Given the description of an element on the screen output the (x, y) to click on. 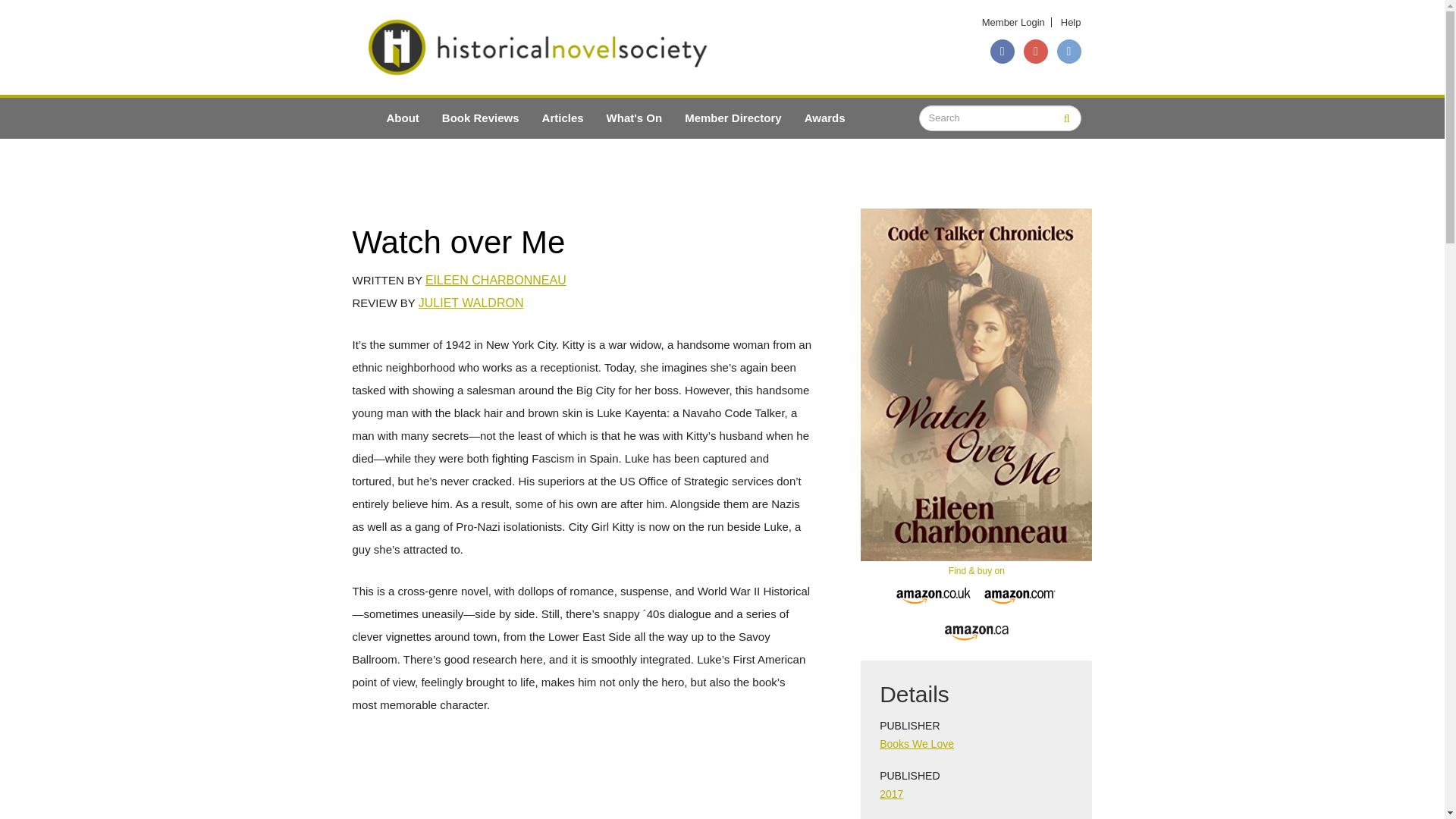
What's On (634, 117)
Awards (825, 117)
Member Login (1013, 22)
EILEEN CHARBONNEAU (495, 279)
Articles (563, 117)
About (401, 117)
Member Directory (732, 117)
Articles (563, 117)
youtube (1035, 51)
About (401, 117)
